Given the description of an element on the screen output the (x, y) to click on. 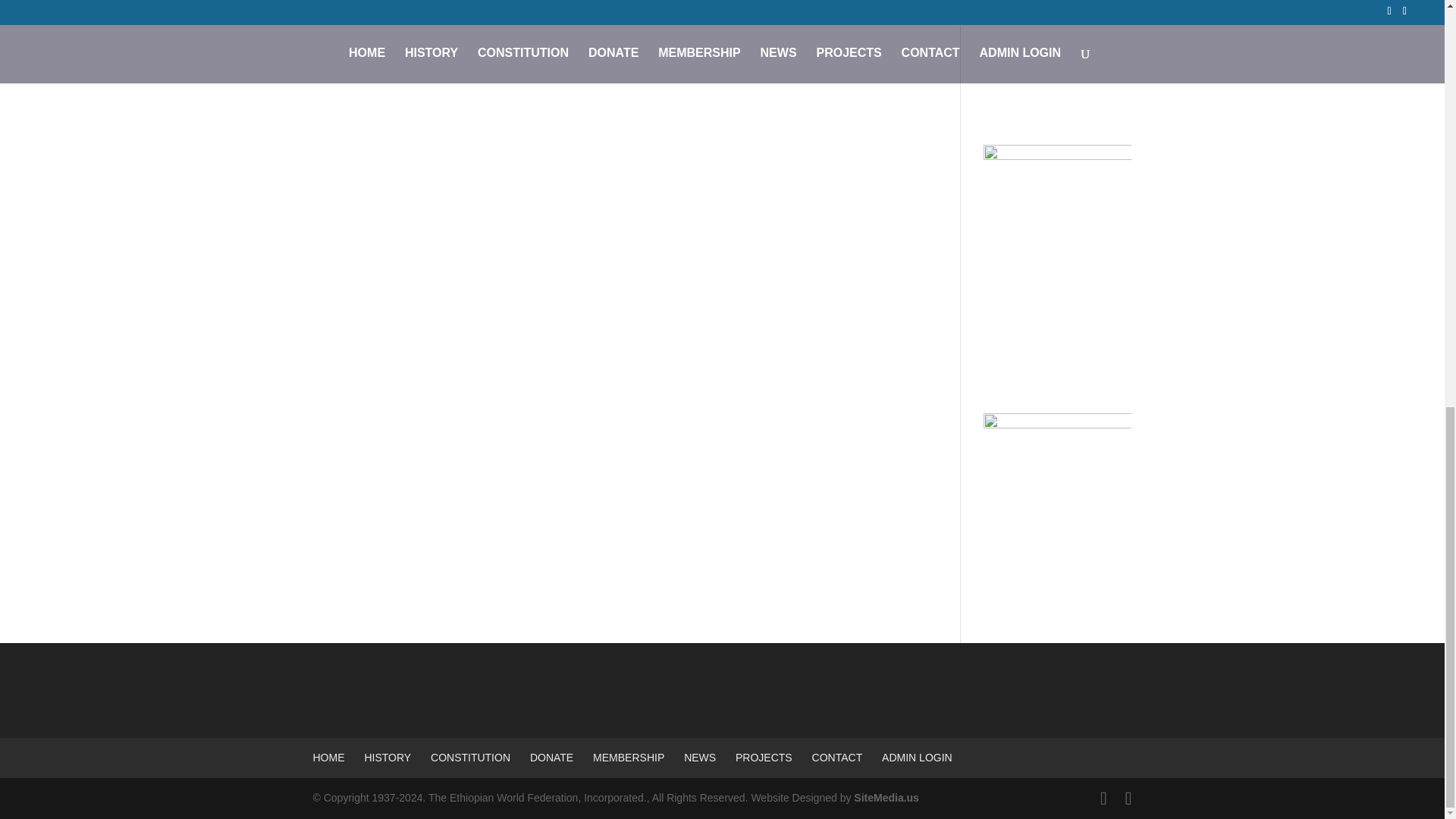
MEMBERSHIP (627, 757)
PROJECTS (763, 757)
DONATE (551, 757)
HOME (328, 757)
HISTORY (387, 757)
ADMIN LOGIN (917, 757)
SiteMedia.us (885, 797)
CONSTITUTION (470, 757)
CONTACT (837, 757)
NEWS (700, 757)
